Given the description of an element on the screen output the (x, y) to click on. 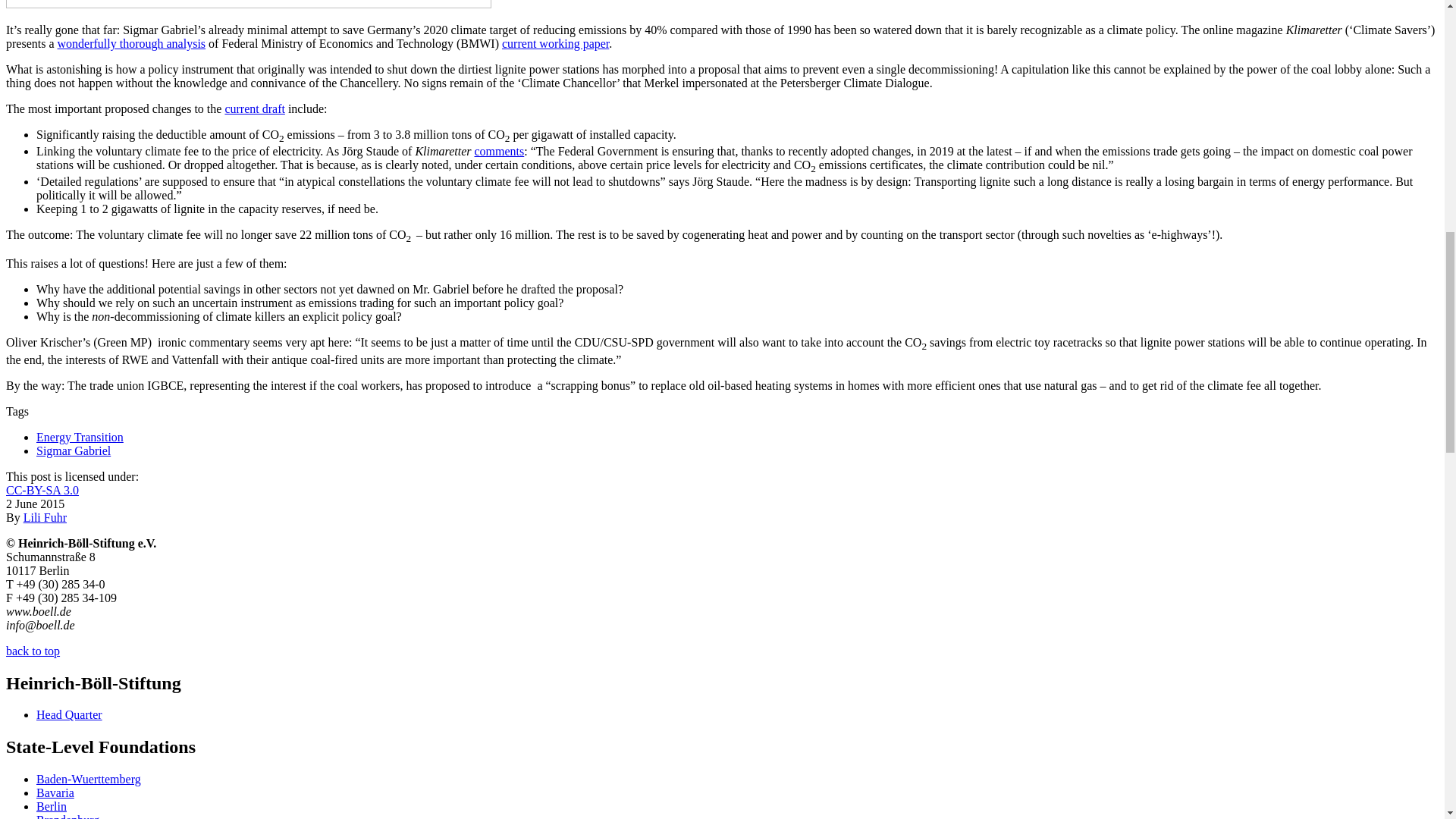
Bavaria (55, 792)
Sigmar Gabriel (73, 450)
wonderfully thorough analysis (132, 42)
Head Quarter (68, 714)
comments (499, 151)
Baden-Wuerttemberg (88, 779)
Berlin (51, 806)
current draft (254, 108)
back to top (32, 650)
Energy Transition (79, 436)
